Given the description of an element on the screen output the (x, y) to click on. 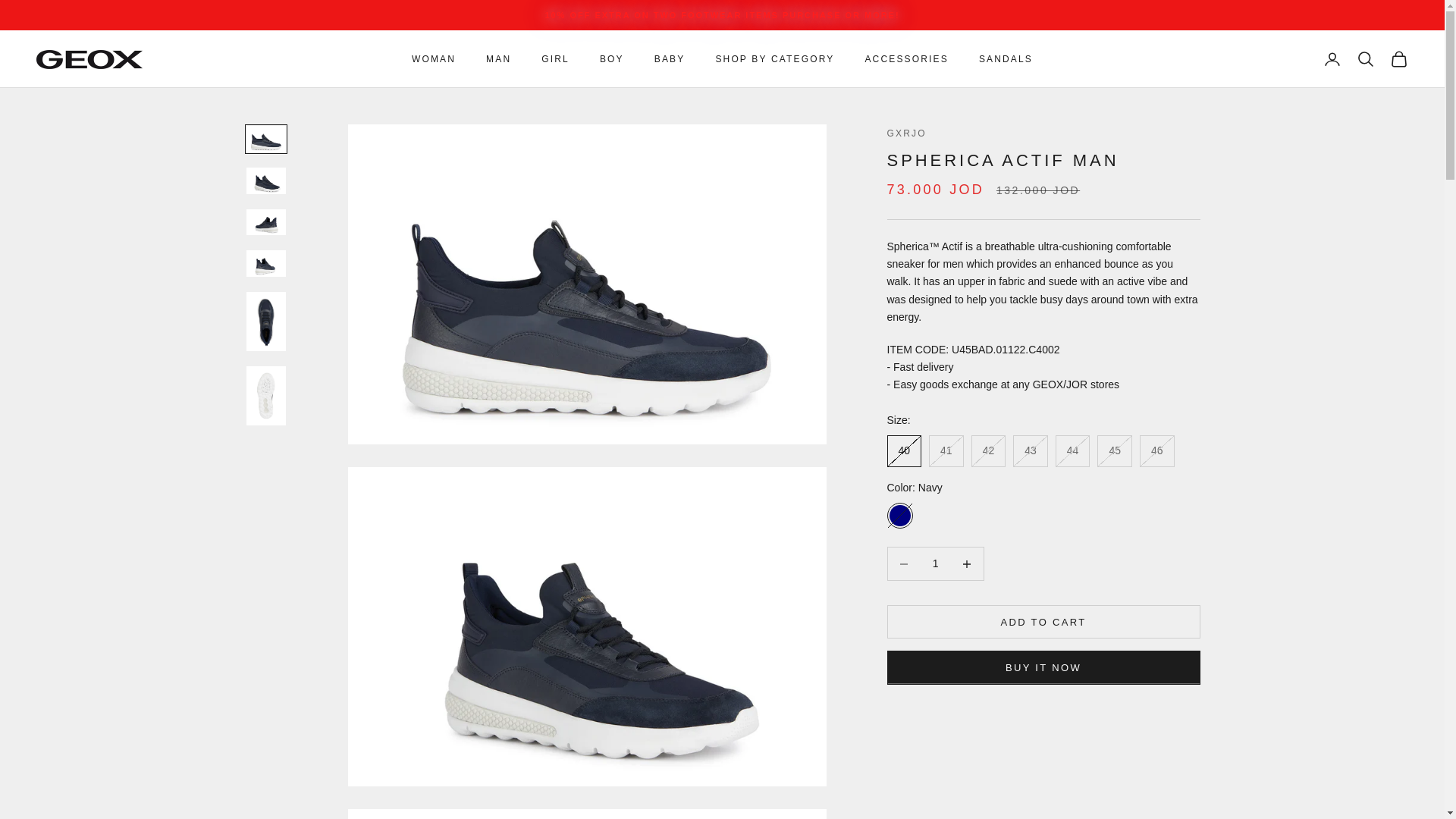
GXRJO (89, 58)
1 (935, 563)
